Given the description of an element on the screen output the (x, y) to click on. 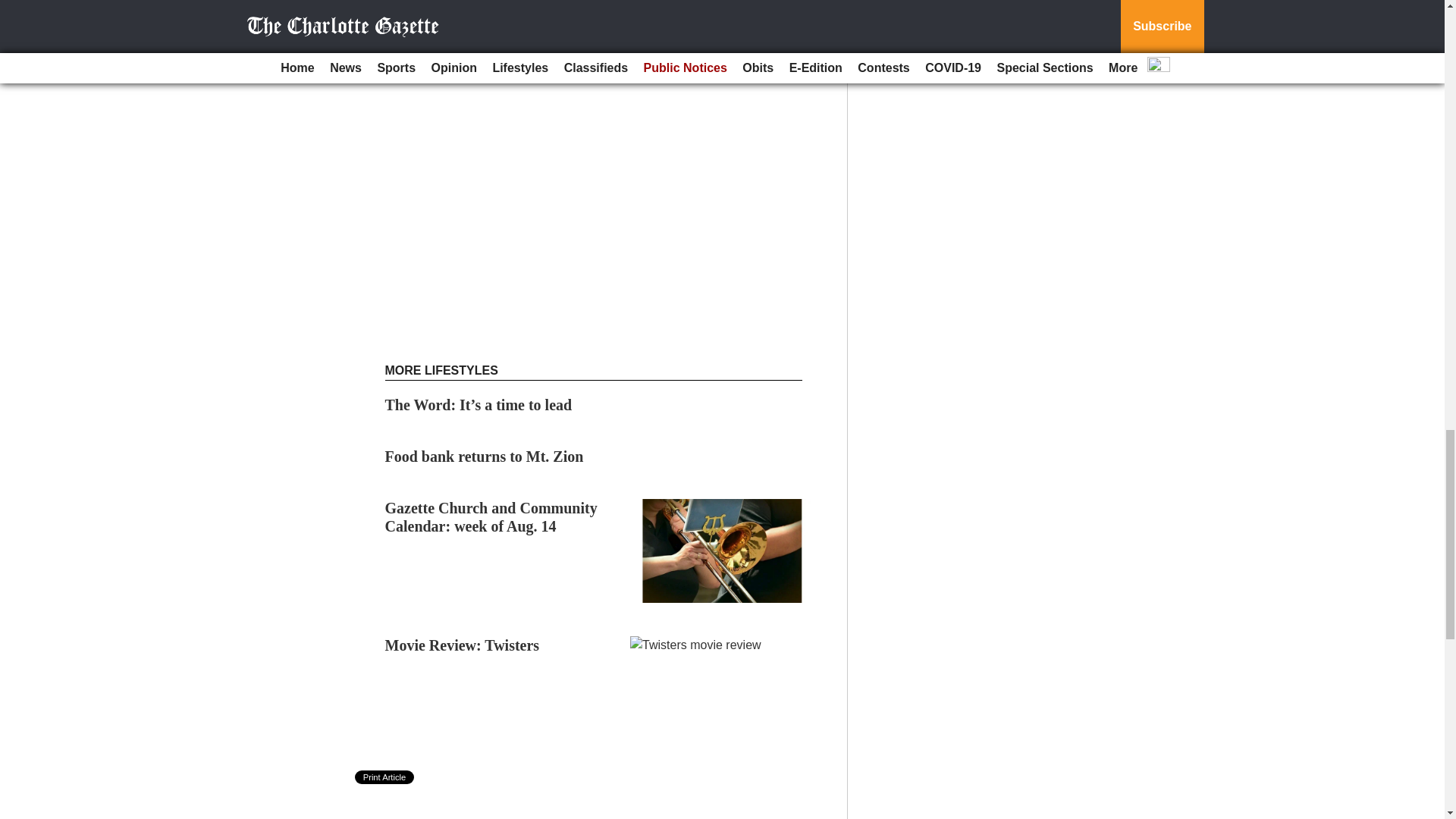
Food bank returns to Mt. Zion (484, 456)
Movie Review: Twisters (462, 645)
Print Article (384, 776)
Food bank returns to Mt. Zion (484, 456)
Gazette Church and Community Calendar: week of Aug. 14 (490, 516)
Movie Review: Twisters (462, 645)
Gazette Church and Community Calendar: week of Aug. 14 (490, 516)
